Given the description of an element on the screen output the (x, y) to click on. 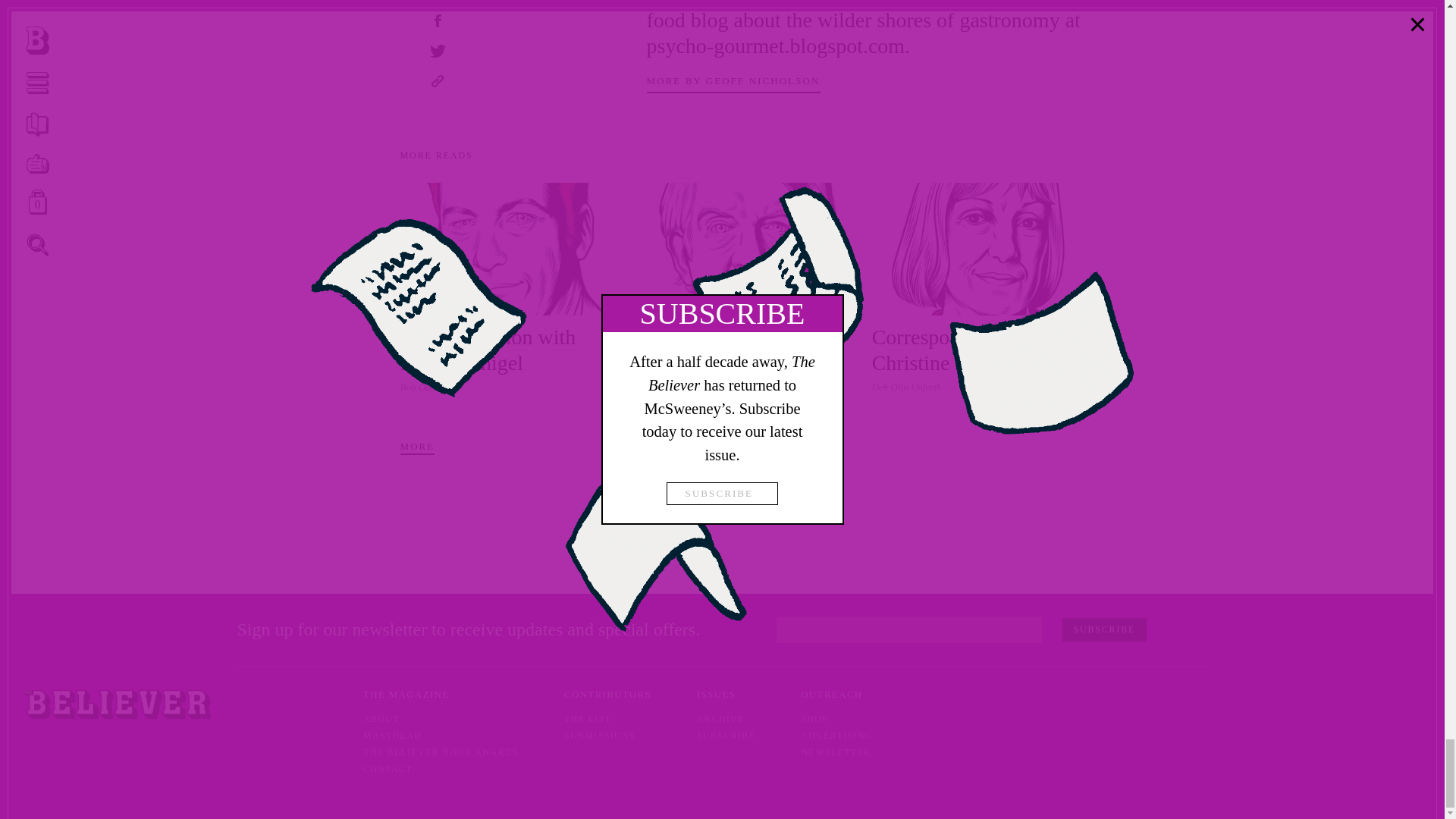
Subscribe (1104, 629)
